Given the description of an element on the screen output the (x, y) to click on. 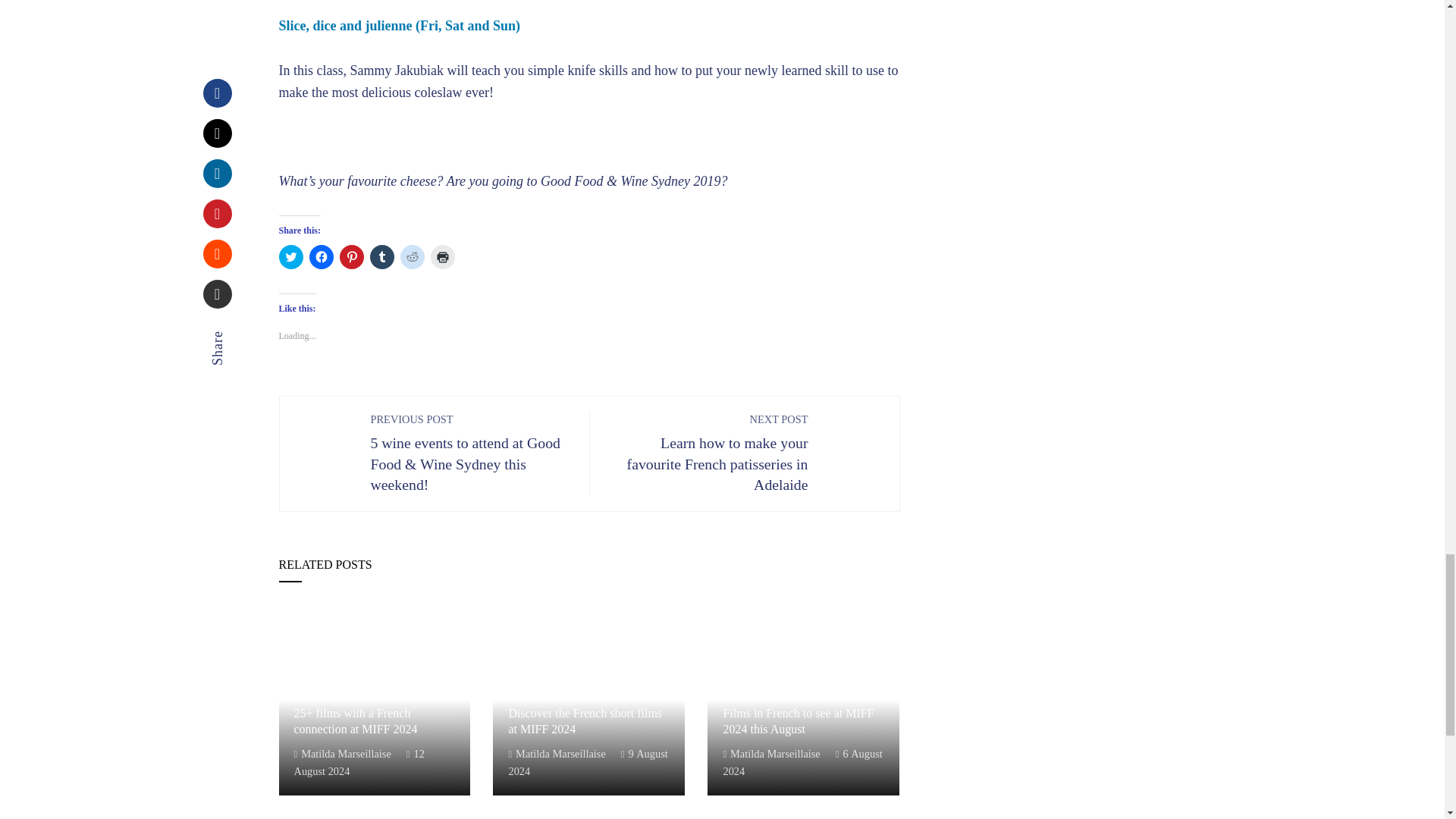
Click to share on Pinterest (351, 256)
Films in French to see at MIFF 2024 this August (797, 720)
Discover the French short films at MIFF 2024 (585, 720)
Click to share on Tumblr (381, 256)
Click to print (442, 256)
Click to share on Twitter (290, 256)
Click to share on Reddit (412, 256)
Click to share on Facebook (320, 256)
